Given the description of an element on the screen output the (x, y) to click on. 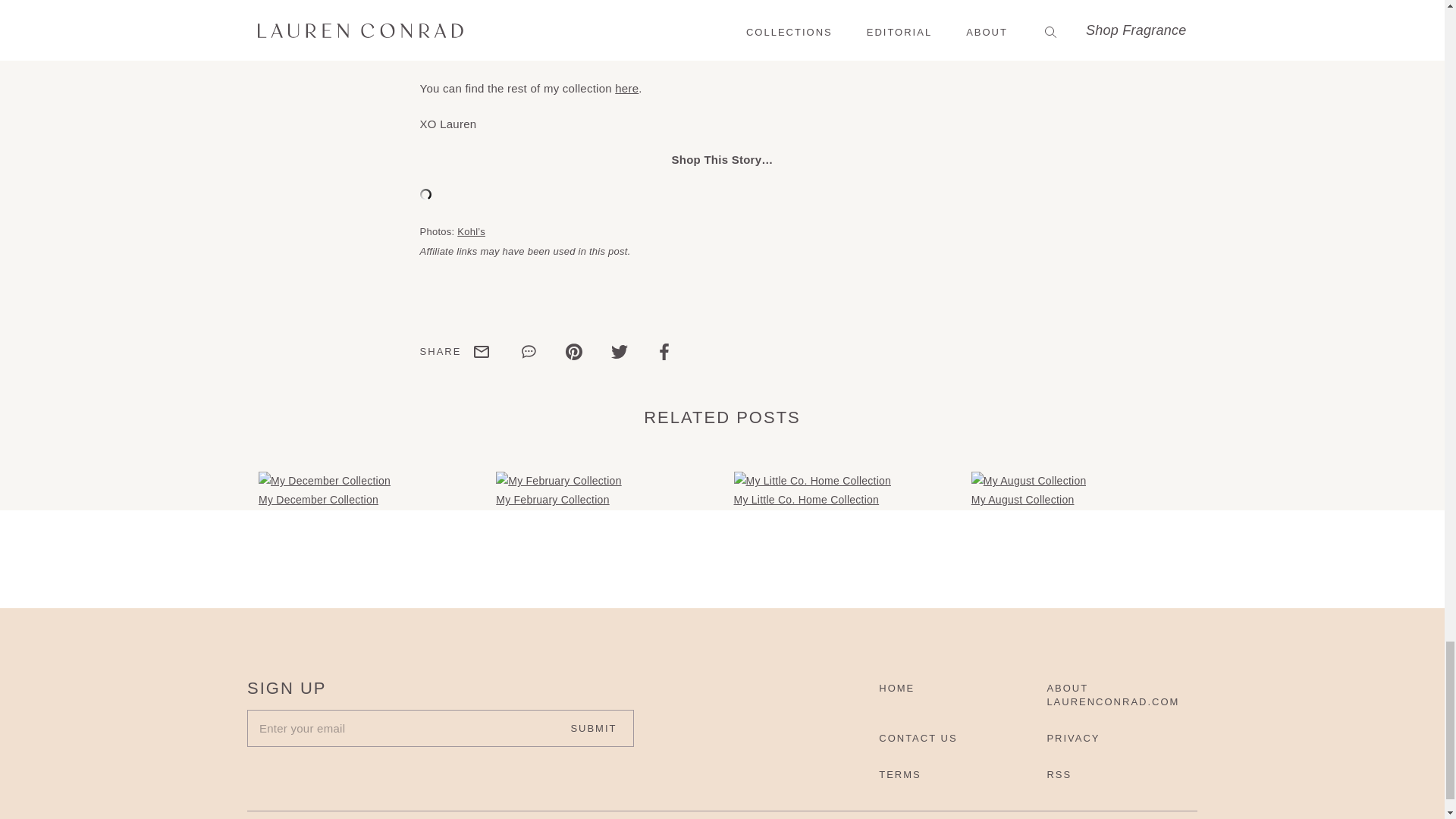
My August Collection (1028, 480)
My December Collection (324, 480)
My Little Co. Home Collection (812, 480)
My February Collection (558, 480)
